Given the description of an element on the screen output the (x, y) to click on. 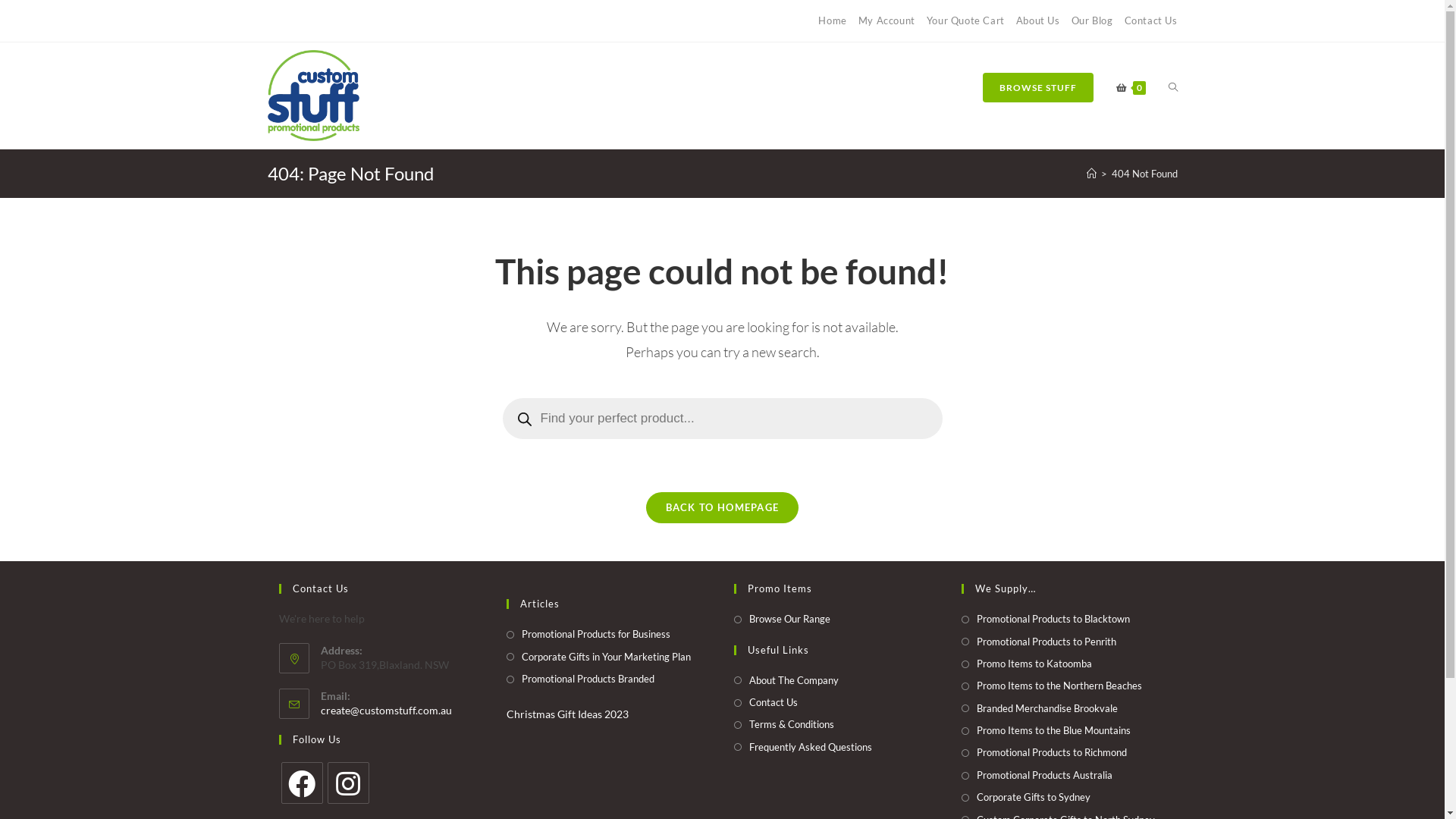
Promotional Products to Penrith Element type: text (1038, 641)
create@customstuff.com.au Element type: text (385, 709)
0 Element type: text (1130, 87)
Corporate Gifts to Sydney Element type: text (1025, 797)
Promo Items to Katoomba Element type: text (1026, 663)
BACK TO HOMEPAGE Element type: text (722, 507)
Promotional Products to Richmond Element type: text (1043, 752)
About The Company Element type: text (786, 680)
Promotional Products for Business Element type: text (588, 634)
Promotional Products Australia Element type: text (1036, 775)
Our Blog Element type: text (1092, 20)
Home Element type: text (832, 20)
Contact Us Element type: text (765, 702)
Frequently Asked Questions Element type: text (803, 747)
My Account Element type: text (886, 20)
BROWSE STUFF Element type: text (1037, 87)
Promotional Products to Blacktown Element type: text (1045, 618)
Browse Our Range Element type: text (782, 618)
Corporate Gifts in Your Marketing Plan Element type: text (598, 656)
Terms & Conditions Element type: text (784, 724)
Promotional Products Branded Element type: text (580, 678)
Promo Items to the Blue Mountains Element type: text (1045, 730)
Branded Merchandise Brookvale Element type: text (1039, 708)
Promo Items to the Northern Beaches Element type: text (1051, 685)
About Us Element type: text (1038, 20)
Your Quote Cart Element type: text (965, 20)
Contact Us Element type: text (1149, 20)
Christmas Gift Ideas 2023 Element type: text (567, 713)
